Given the description of an element on the screen output the (x, y) to click on. 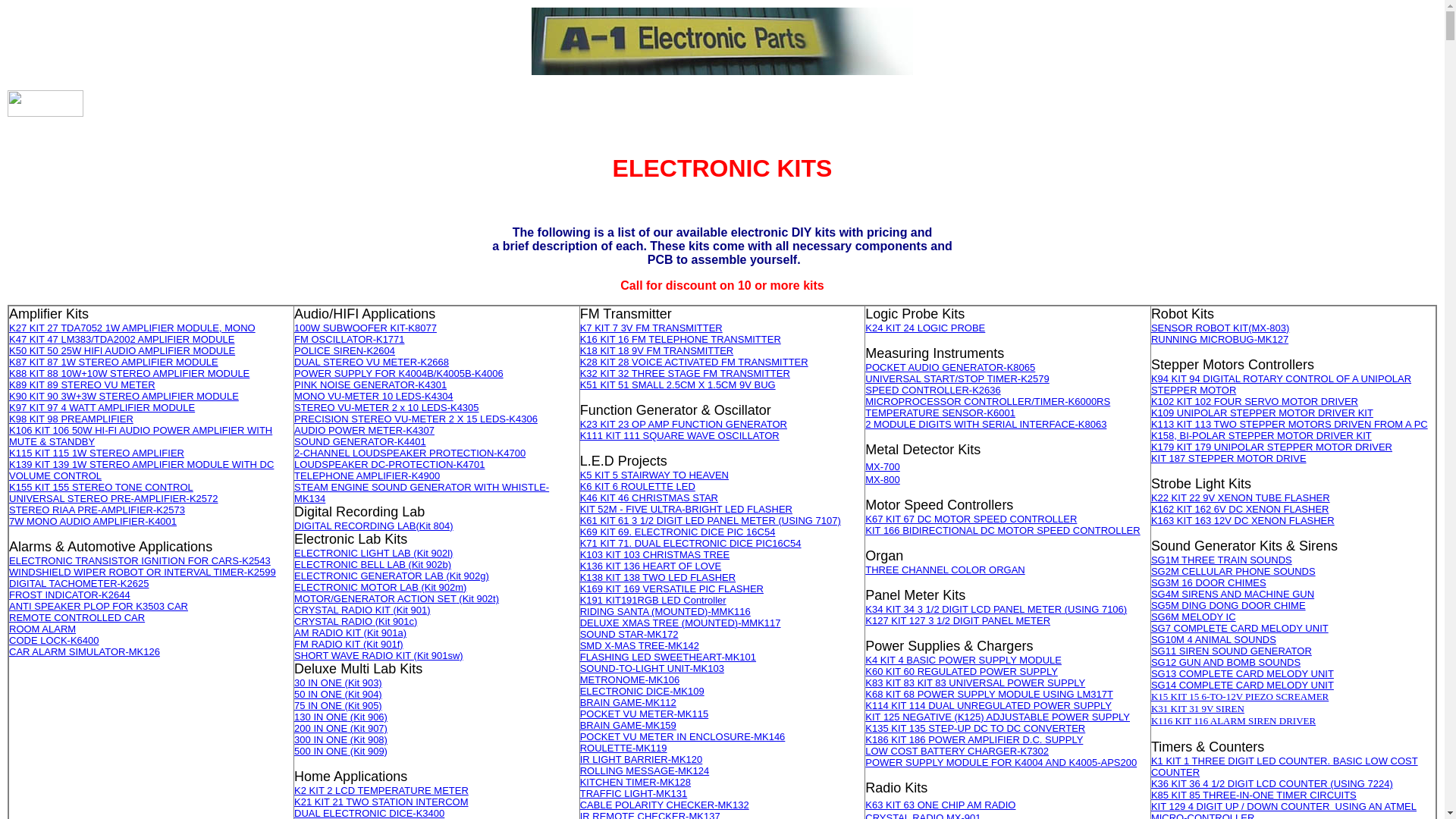
POLICE SIREN-K2604 Element type: text (344, 350)
KIT 166 BIDIRECTIONAL DC MOTOR SPEED CONTROLLER Element type: text (1002, 530)
CRYSTAL RADIO KIT (Kit 901) Element type: text (361, 609)
ELECTRONIC DICE-MK109 Element type: text (642, 690)
K115 KIT 115 1W STEREO AMPLIFIER Element type: text (96, 452)
K87 KIT 87 1W STEREO AMPLIFIER MODULE Element type: text (113, 361)
K21 KIT 21 TWO STATION INTERCOM Element type: text (380, 801)
DIGITAL RECORDING LAB(Kit 804) Element type: text (373, 525)
ROLLING MESSAGE-MK124 Element type: text (644, 770)
K6 KIT 6 ROULETTE LED Element type: text (637, 486)
2-CHANNEL LOUDSPEAKER PROTECTION-K4700 Element type: text (409, 452)
CAR ALARM SIMULATOR-MK126 Element type: text (84, 651)
(Kit 909) Element type: text (367, 749)
KITCHEN TIMER-MK128 Element type: text (635, 781)
K191 KIT191RGB LED Controller Element type: text (653, 599)
LOUDSPEAKER DC-PROTECTION-K4701 Element type: text (389, 464)
SG5M DING DONG DOOR CHIME Element type: text (1228, 605)
IR LIGHT BARRIER-MK120 Element type: text (641, 759)
K51 KIT 51 SMALL 2.5CM X 1.5CM 9V BUG Element type: text (677, 384)
K88 KIT 88 10W+10W STEREO AMPLIFIER MODULE Element type: text (129, 373)
STEREO RIAA PRE-AMPLIFIER-K2573 Element type: text (97, 509)
RUNNING MICROBUG-MK127 Element type: text (1219, 339)
K102 KIT 102 FOUR SERVO MOTOR DRIVER Element type: text (1254, 401)
THREE CHANNEL COLOR ORGAN Element type: text (944, 569)
K169 KIT 169 VERSATILE PIC FLASHER Element type: text (671, 588)
K71 KIT 71. DUAL ELECTRONIC DICE PIC16C54 Element type: text (690, 543)
SG11 SIREN SOUND GENERATOR Element type: text (1231, 650)
K61 KIT 61 3 1/2 DIGIT LED PANEL METER (USING 7107) Element type: text (710, 520)
ELECTRONIC BELL LAB (Kit 902b) Element type: text (372, 564)
K7 KIT 7 3V FM TRANSMITTER Element type: text (651, 327)
K186 KIT 186 POWER AMPLIFIER D.C. SUPPLY Element type: text (973, 739)
TRAFFIC LIGHT-MK131 Element type: text (633, 793)
K67 KIT 67 DC MOTOR SPEED CONTROLLER Element type: text (970, 518)
KIT 125 NEGATIVE (K125) ADJUSTABLE POWER SUPPLY Element type: text (997, 716)
K63 KIT 63 ONE CHIP AM RADIO Element type: text (940, 804)
AM RADIO KIT (Kit 901a) Element type: text (350, 632)
ROULETTE-MK119 Element type: text (623, 747)
TELEPHONE AMPLIFIER-K4900 Element type: text (366, 475)
K113 KIT 113 TWO STEPPER MOTORS DRIVEN FROM A PC Element type: text (1289, 423)
SENSOR ROBOT KIT(MX-803) Element type: text (1220, 327)
SG1M THREE TRAIN SOUNDS Element type: text (1221, 558)
LOW COST BATTERY CHARGER-K7302 Element type: text (956, 750)
SG13 COMPLETE CARD MELODY UNIT Element type: text (1242, 673)
K27 KIT 27 TDA7052 1W AMPLIFIER MODULE, MONO Element type: text (132, 327)
SG2M CELLULAR PHONE SOUNDS Element type: text (1233, 571)
STEAM ENGINE SOUND GENERATOR WITH WHISTLE-MK134 Element type: text (421, 492)
POWER SUPPLY FOR K4004B/K4005B-K4006 Element type: text (398, 373)
MONO VU-METER 10 LEDS-K4304 Element type: text (373, 395)
FLASHING LED SWEETHEART-MK101 Element type: text (668, 656)
FM OSCILLATOR-K1771 Element type: text (349, 339)
K158, BI-POLAR STEPPER MOTOR DRIVER KIT Element type: text (1261, 435)
K15 KIT 15 6-TO-12V PIEZO SCREAMER Element type: text (1239, 696)
CABLE POLARITY CHECKER-MK132 Element type: text (664, 804)
CODE LOCK-K6400 Element type: text (54, 640)
SG6M MELODY IC Element type: text (1193, 616)
DUAL STEREO VU METER-K2668 Element type: text (371, 361)
SPEED CONTROLLER-K2636 Element type: text (932, 389)
K97 KIT 97 4 WATT AMPLIFIER MODULE Element type: text (101, 407)
K5 KIT 5 STAIRWAY TO HEAVEN Element type: text (654, 474)
K32 KIT 32 THREE STAGE FM TRANSMITTER Element type: text (685, 373)
UNIVERSAL START/STOP TIMER-K2579 Element type: text (957, 378)
UNIVERSAL STEREO PRE-AMPLIFIER-K2572 Element type: text (113, 498)
K138 KIT 138 TWO LED FLASHER Element type: text (657, 577)
K109 UNIPOLAR STEPPER MOTOR DRIVER KIT Element type: text (1262, 412)
K46 KIT 46 CHRISTMAS STAR Element type: text (649, 497)
SG14 COMPLETE CARD MELODY UNIT Element type: text (1242, 684)
ELECTRONIC MOTOR LAB (Kit 902m) Element type: text (380, 587)
SG7 COMPLETE CARD MELODY UNIT Element type: text (1239, 627)
K127 KIT 127 3 1/2 DIGIT PANEL METER Element type: text (957, 620)
STEREO VU-METER 2 x 10 LEDS-K4305 Element type: text (386, 407)
300 IN ONE (Kit 908) Element type: text (340, 739)
K98 KIT 98 PREAMPLIFIER Element type: text (71, 418)
MX-800 Element type: text (882, 479)
POCKET VU METER IN ENCLOSURE-MK146 Element type: text (682, 736)
FM RADIO KIT (Kit 901f) Element type: text (348, 643)
K1 KIT 1 THREE DIGIT LED COUNTER. BASIC LOW COST COUNTER Element type: text (1284, 766)
ANTI SPEAKER PLOP FOR K3503 CAR Element type: text (98, 605)
K111 KIT 111 SQUARE WAVE OSCILLATOR Element type: text (679, 435)
K90 KIT 90 3W+3W STEREO AMPLIFIER MODULE Element type: text (123, 395)
BRAIN GAME-MK159 Element type: text (628, 725)
PINK NOISE GENERATOR-K4301 Element type: text (370, 383)
K69 KIT 69. ELECTRONIC DICE PIC 16C54 Element type: text (677, 531)
RIDING SANTA (MOUNTED)-MMK116 Element type: text (665, 611)
K23 KIT 23 OP AMP FUNCTION GENERATOR Element type: text (683, 423)
MOTOR/GENERATOR ACTION SET (Kit 902t) Element type: text (396, 598)
ROOM ALARM Element type: text (42, 628)
SOUND STAR-MK172 Element type: text (629, 634)
K18 KIT 18 9V FM TRANSMITTER Element type: text (657, 350)
REMOTE CONTROLLED CAR Element type: text (76, 617)
K163 KIT 163 12V DC XENON FLASHER Element type: text (1242, 520)
KIT 187 STEPPER MOTOR DRIVE Element type: text (1228, 458)
K24 KIT 24 LOGIC PROBE Element type: text (925, 327)
FROST INDICATOR-K2644 Element type: text (69, 594)
K103 KIT 103 CHRISTMAS TREE Element type: text (654, 554)
SHORT WAVE RADIO KIT (Kit 901sw) Element type: text (378, 655)
SG4M SIRENS AND MACHINE GUN Element type: text (1232, 593)
30 IN ONE (Kit 903) Element type: text (338, 682)
ELECTRONIC LIGHT LAB (Kit 902l) Element type: text (373, 552)
SOUND-TO-LIGHT UNIT-MK103 Element type: text (652, 668)
K31 KIT 31 9V SIREN Element type: text (1197, 708)
K155 KIT 155 STEREO TONE CONTROL Element type: text (101, 486)
K36 KIT 36 4 1/2 DIGIT LCD COUNTER (USING 7224) Element type: text (1272, 783)
50 IN ONE (Kit 904) Element type: text (338, 693)
MICROPROCESSOR CONTROLLER/TIMER-K6000RS Element type: text (987, 401)
K60 KIT 60 REGULATED POWER SUPPLY Element type: text (961, 671)
K179 KIT 179 UNIPOLAR STEPPER MOTOR DRIVER Element type: text (1271, 446)
TEMPERATURE SENSOR-K6001 Element type: text (940, 412)
K83 KIT 83 KIT 83 UNIVERSAL POWER SUPPLY Element type: text (975, 682)
AUDIO POWER METER-K4307 Element type: text (364, 429)
K34 KIT 34 3 1/2 DIGIT LCD PANEL METER (USING 7106) Element type: text (995, 609)
K135 KIT 135 STEP-UP DC TO DC CONVERTER Element type: text (975, 728)
75 IN ONE (Kit 905) Element type: text (338, 705)
MX-700 Element type: text (882, 466)
ELECTRONIC TRANSISTOR IGNITION FOR CARS-K2543 Element type: text (139, 560)
K4 KIT 4 BASIC POWER SUPPLY MODULE Element type: text (963, 659)
K116 KIT 116 ALARM SIREN DRIVER Element type: text (1233, 720)
DIGITAL TACHOMETER-K2625 Element type: text (78, 583)
SG12 GUN AND BOMB SOUNDS Element type: text (1225, 662)
130 IN ONE (Kit 906) Element type: text (340, 716)
SOUND GENERATOR-K4401 Element type: text (360, 441)
POWER SUPPLY MODULE FOR K4004 AND K4005-APS200 Element type: text (1000, 762)
K89 KIT 89 STEREO VU METER Element type: text (82, 384)
BRAIN GAME-MK112 Element type: text (628, 702)
POCKET AUDIO GENERATOR-K8065 Element type: text (950, 367)
SG10M 4 ANIMAL SOUNDS Element type: text (1213, 639)
K136 KIT 136 HEART OF LOVE Element type: text (650, 565)
WINDSHIELD WIPER ROBOT OR INTERVAL TIMER-K2599 Element type: text (142, 571)
K68 KIT 68 POWER SUPPLY MODULE USING LM317T Element type: text (989, 693)
K2 KIT 2 LCD TEMPERATURE METER Element type: text (381, 790)
K50 KIT 50 25W HIFI AUDIO AMPLIFIER MODULE Element type: text (122, 350)
DELUXE XMAS TREE (MOUNTED)-MMK117 Element type: text (680, 622)
7W MONO AUDIO AMPLIFIER-K4001 Element type: text (92, 521)
100W SUBWOOFER KIT-K8077 Element type: text (365, 326)
KIT 52M - FIVE ULTRA-BRIGHT LED FLASHER Element type: text (686, 508)
K85 KIT 85 THREE-IN-ONE TIMER CIRCUITS Element type: text (1253, 794)
K47 KIT 47 LM383/TDA2002 AMPLIFIER MODULE Element type: text (121, 339)
CRYSTAL RADIO (Kit 901c) Element type: text (355, 621)
K162 KIT 162 6V DC XENON FLASHER Element type: text (1240, 508)
SMD X-MAS TREE-MK142 Element type: text (639, 645)
ELECTRONIC GENERATOR LAB (Kit 902g) Element type: text (391, 575)
500 IN ONE Element type: text (320, 750)
2 MODULE DIGITS WITH SERIAL INTERFACE-K8063 Element type: text (985, 423)
K22 KIT 22 9V XENON TUBE FLASHER Element type: text (1240, 497)
Call for discount on 10 or more kits Element type: text (722, 285)
200 IN ONE (Kit 907) Element type: text (340, 728)
PRECISION STEREO VU-METER 2 X 15 LEDS-K4306 Element type: text (415, 418)
K28 KIT 28 VOICE ACTIVATED FM TRANSMITTER Element type: text (694, 361)
POCKET VU METER-MK115 Element type: text (644, 713)
SG3M 16 DOOR CHIMES Element type: text (1208, 582)
K16 KIT 16 FM TELEPHONE TRANSMITTER Element type: text (680, 339)
K114 KIT 114 DUAL UNREGULATED POWER SUPPLY Element type: text (988, 705)
METRONOME-MK106 Element type: text (629, 679)
